Given the description of an element on the screen output the (x, y) to click on. 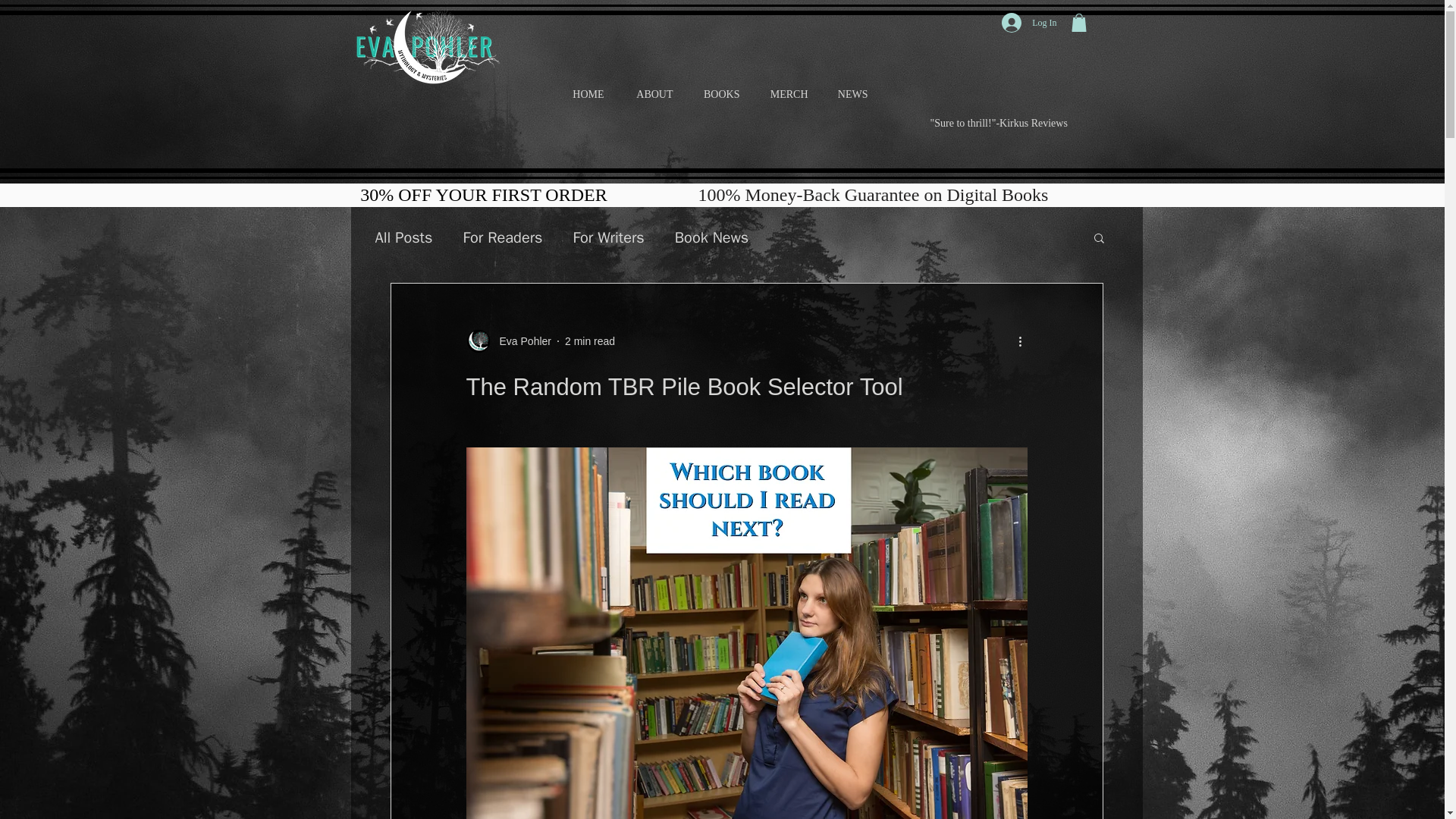
ABOUT (646, 94)
HOME (580, 94)
Log In (1029, 22)
Eva Pohler (519, 341)
NEWS (845, 94)
2 min read (589, 340)
BOOKS (714, 94)
MERCH (781, 94)
